Given the description of an element on the screen output the (x, y) to click on. 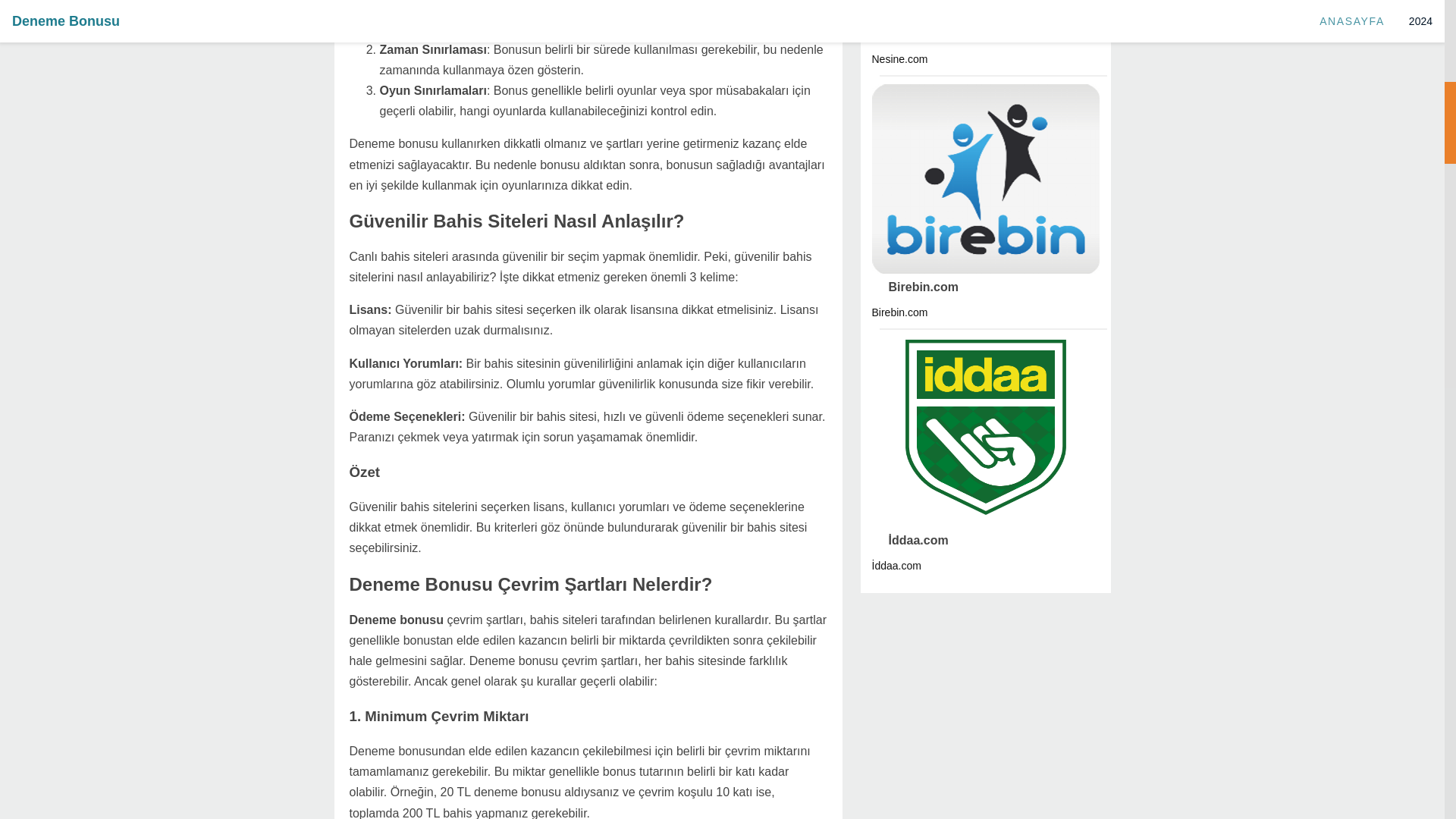
Nesine.com (914, 33)
nesine.com (914, 33)
Birebin.com (915, 286)
Birebin.com (915, 286)
